Given the description of an element on the screen output the (x, y) to click on. 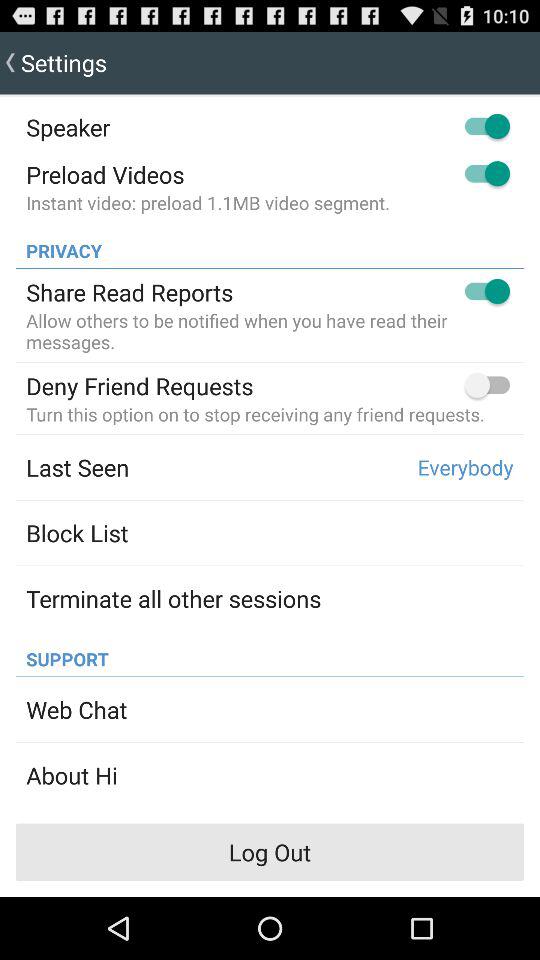
flip until the block list icon (77, 532)
